Given the description of an element on the screen output the (x, y) to click on. 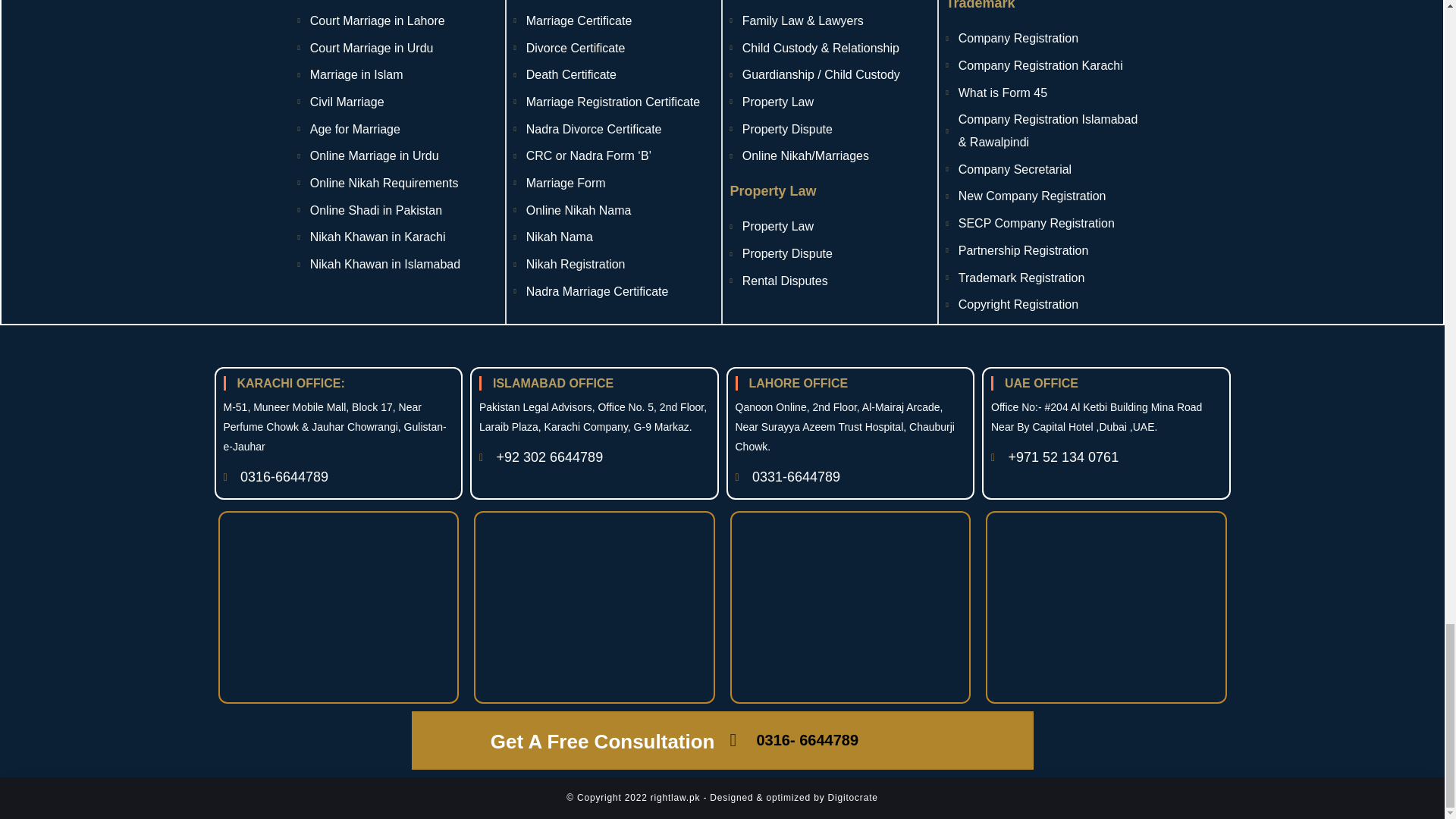
0331-6644789 (850, 477)
0316-6644789 (337, 477)
LAHORE OFFICE (850, 382)
Property Law (828, 190)
ISLAMABAD OFFICE (594, 382)
0316- 6644789 (828, 253)
UAE OFFICE (873, 740)
Get A Free Consultation (1106, 382)
KARACHI OFFICE: (570, 740)
